Given the description of an element on the screen output the (x, y) to click on. 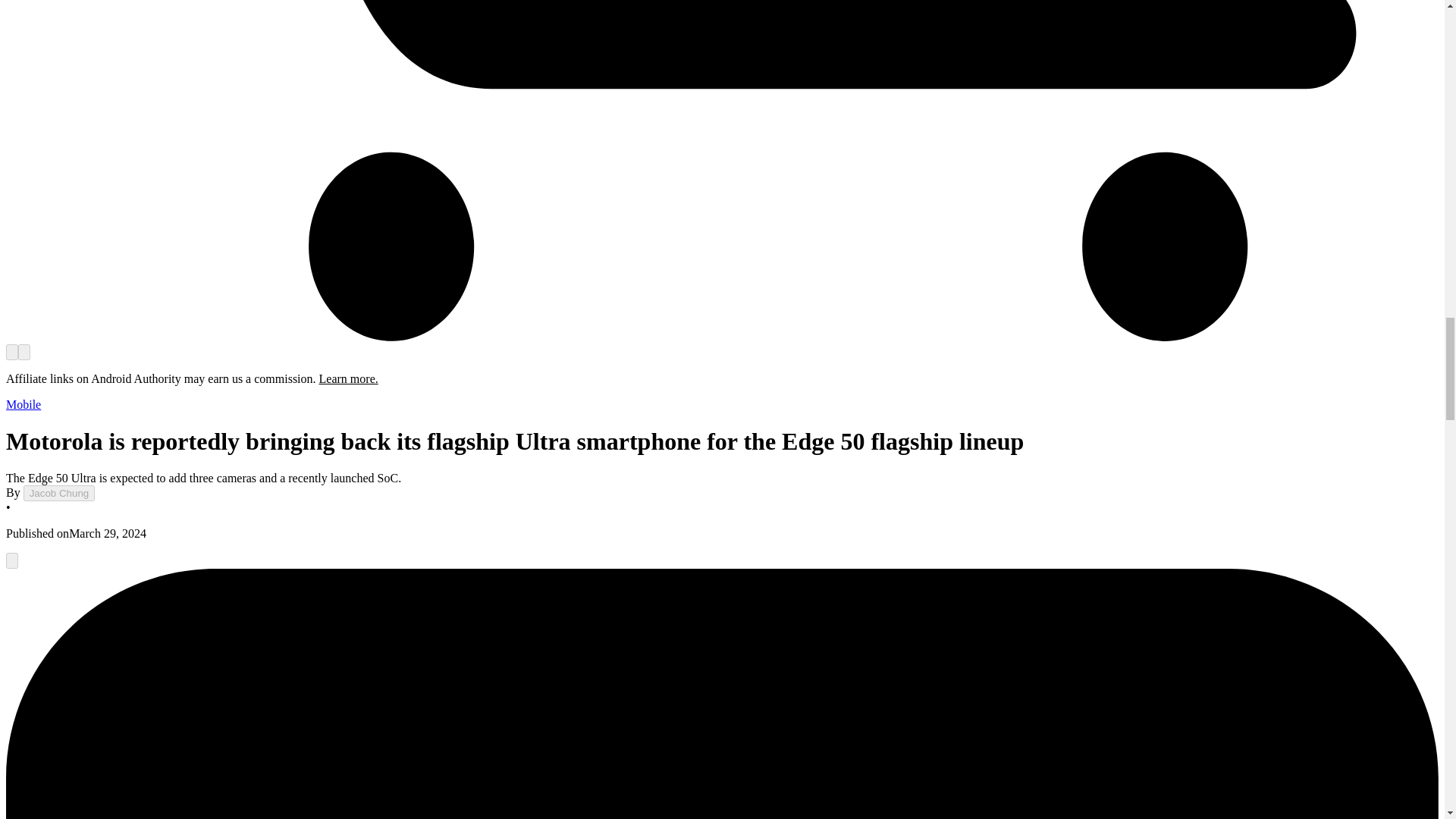
Jacob Chung (59, 493)
Learn more. (348, 378)
Mobile (22, 404)
